Given the description of an element on the screen output the (x, y) to click on. 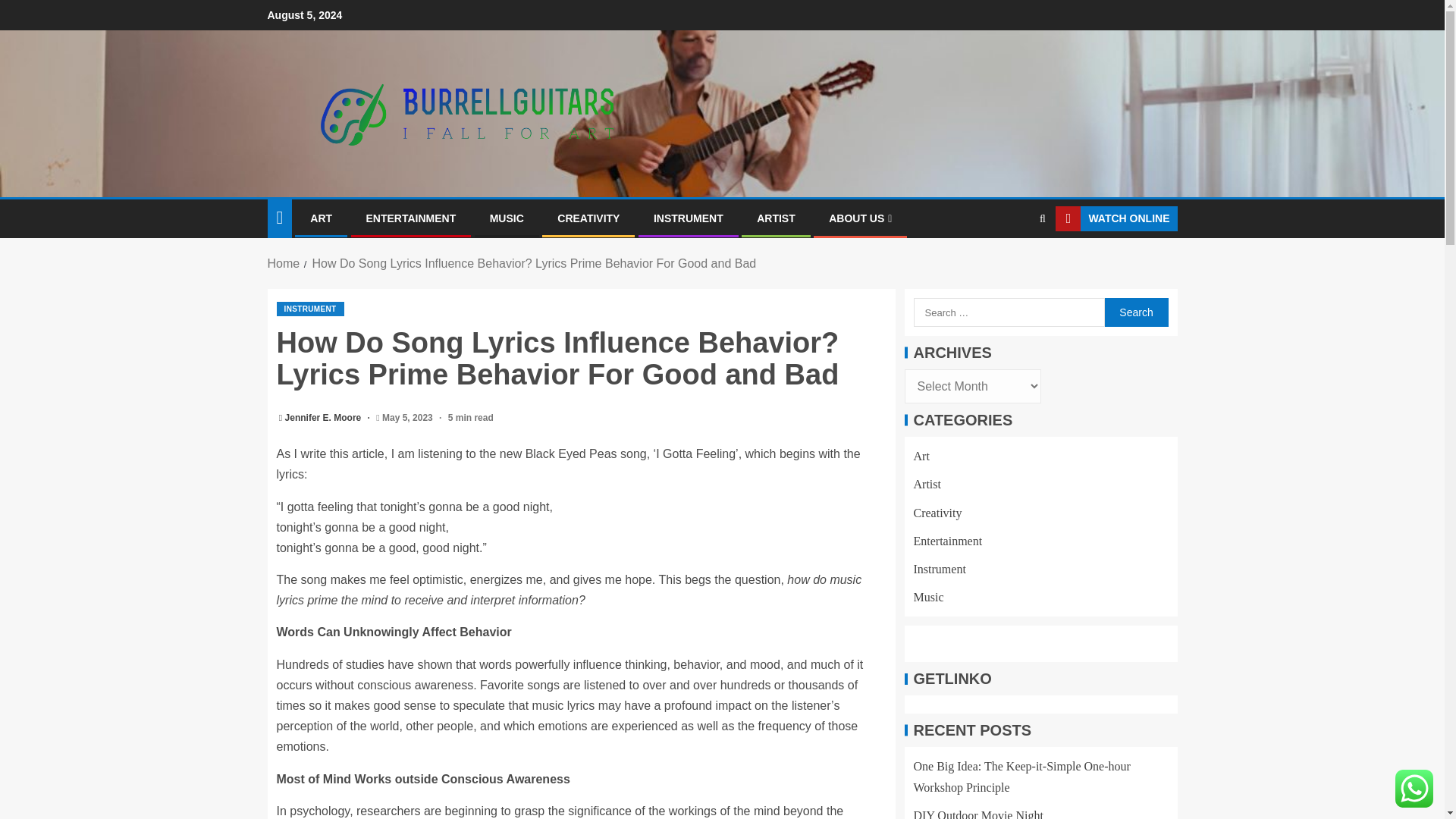
Search (1013, 265)
ABOUT US (859, 218)
CREATIVITY (588, 218)
WATCH ONLINE (1115, 218)
Jennifer E. Moore (324, 417)
Search (1135, 312)
Search (1135, 312)
Home (282, 263)
ART (320, 218)
ENTERTAINMENT (410, 218)
INSTRUMENT (309, 309)
ARTIST (775, 218)
INSTRUMENT (688, 218)
MUSIC (506, 218)
